Given the description of an element on the screen output the (x, y) to click on. 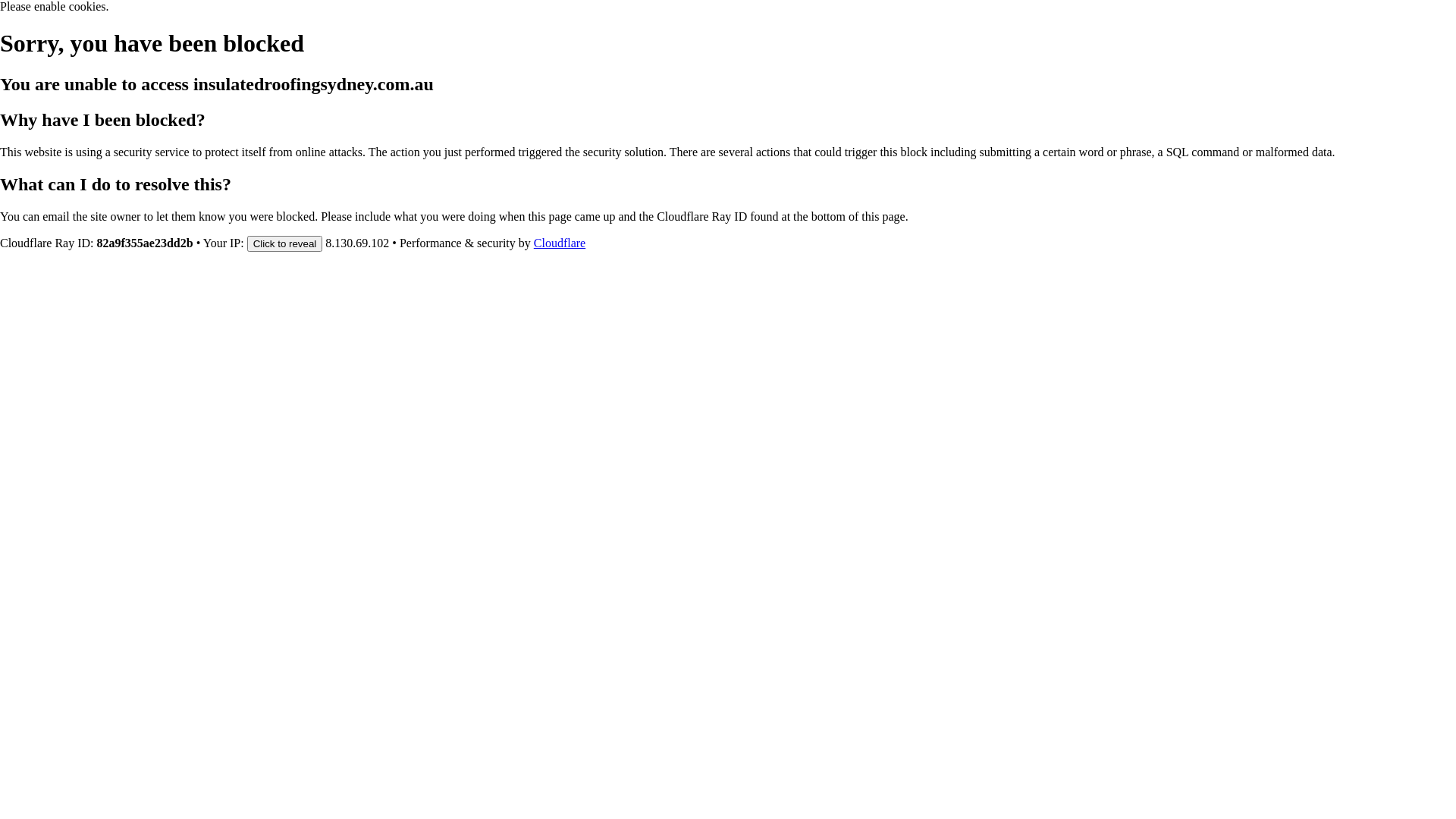
Cloudflare Element type: text (559, 242)
Click to reveal Element type: text (285, 243)
